Given the description of an element on the screen output the (x, y) to click on. 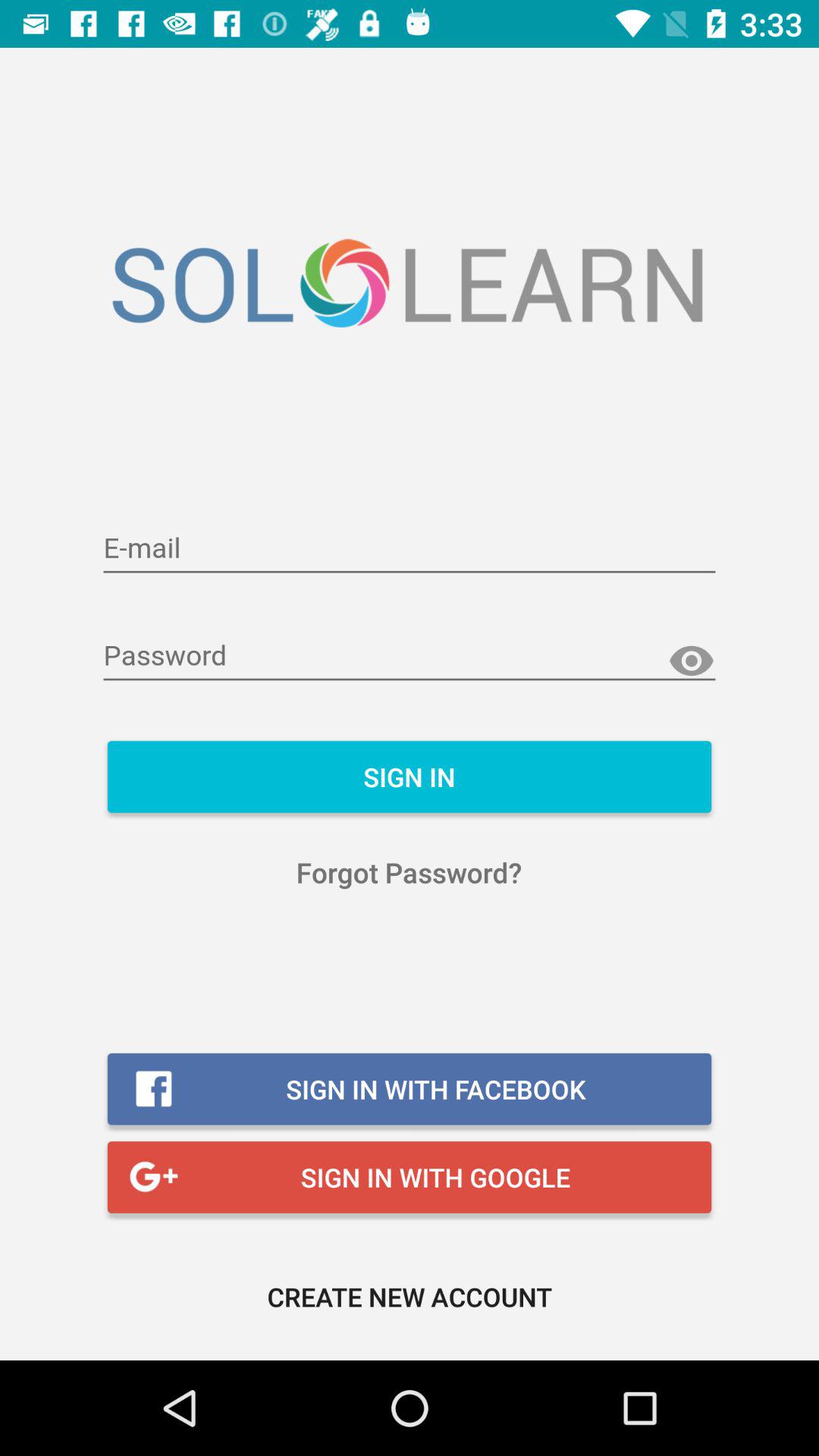
press the forgot password? (409, 872)
